Given the description of an element on the screen output the (x, y) to click on. 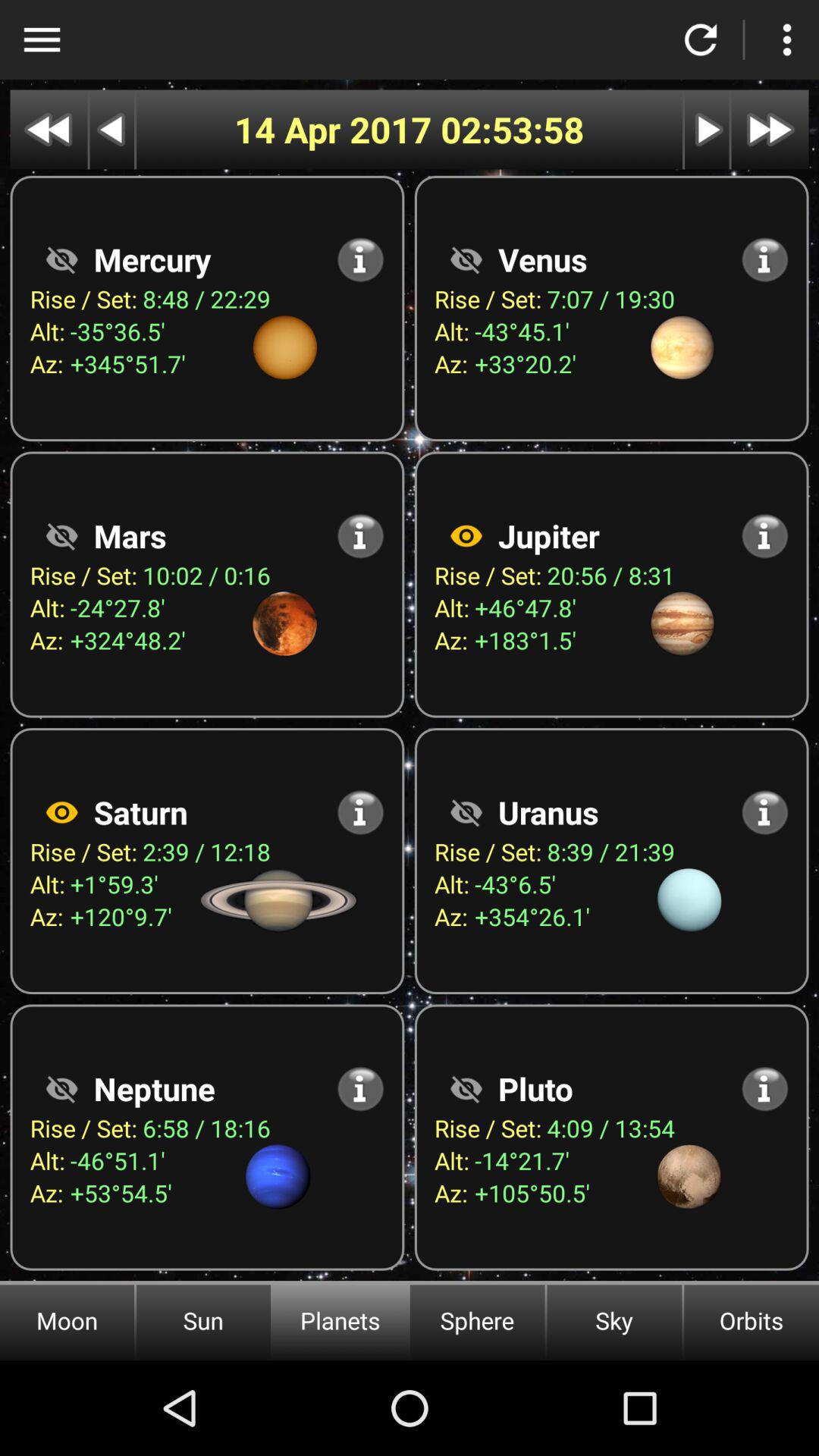
hide tab (61, 259)
